Given the description of an element on the screen output the (x, y) to click on. 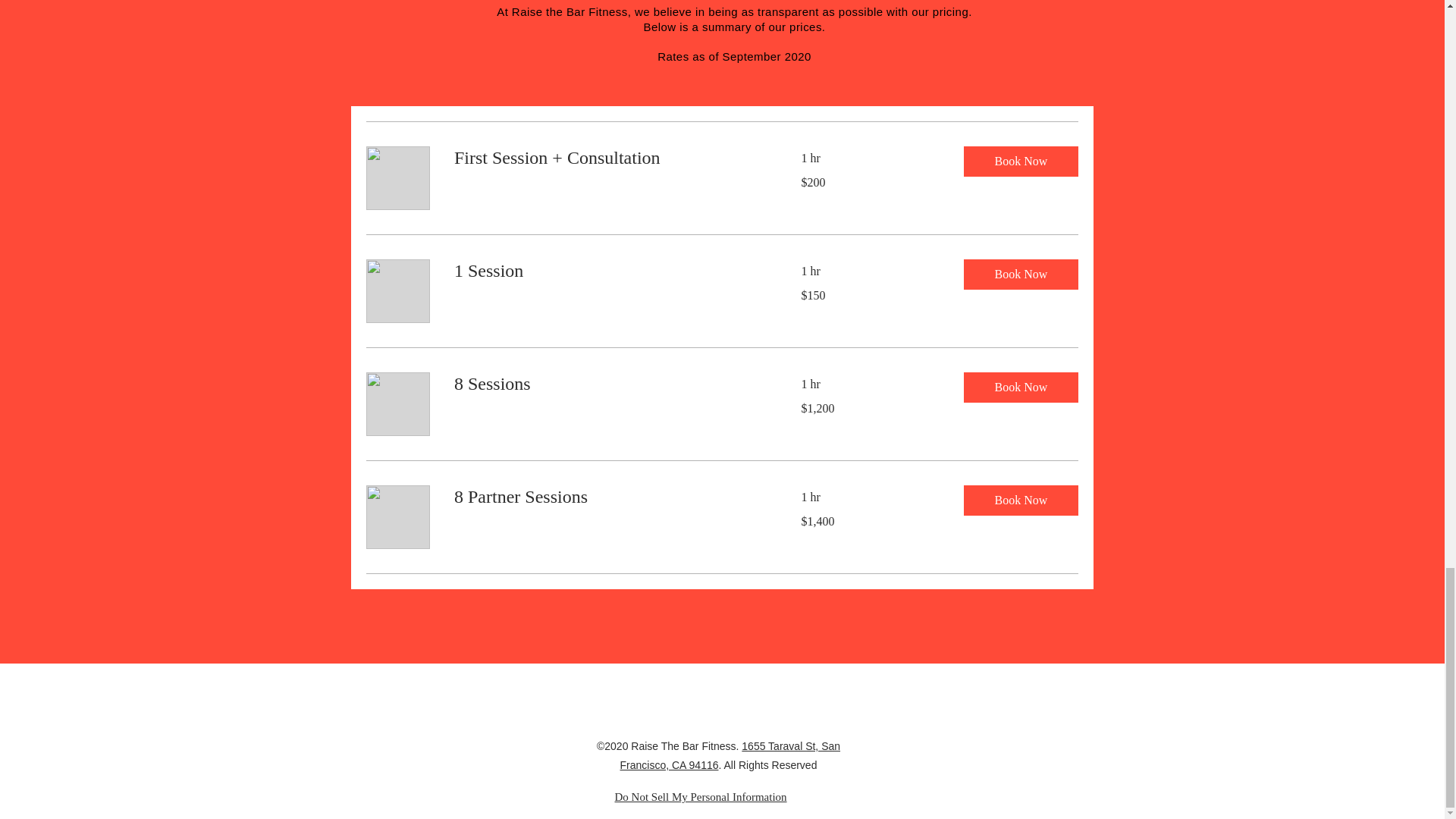
1 Session (608, 271)
Book Now (1019, 500)
Book Now (1019, 274)
Book Now (1019, 161)
1655 Taraval St, San Francisco, CA 94116 (730, 755)
8 Partner Sessions (608, 497)
Do Not Sell My Personal Information (700, 797)
8 Sessions (608, 384)
Book Now (1019, 387)
